Given the description of an element on the screen output the (x, y) to click on. 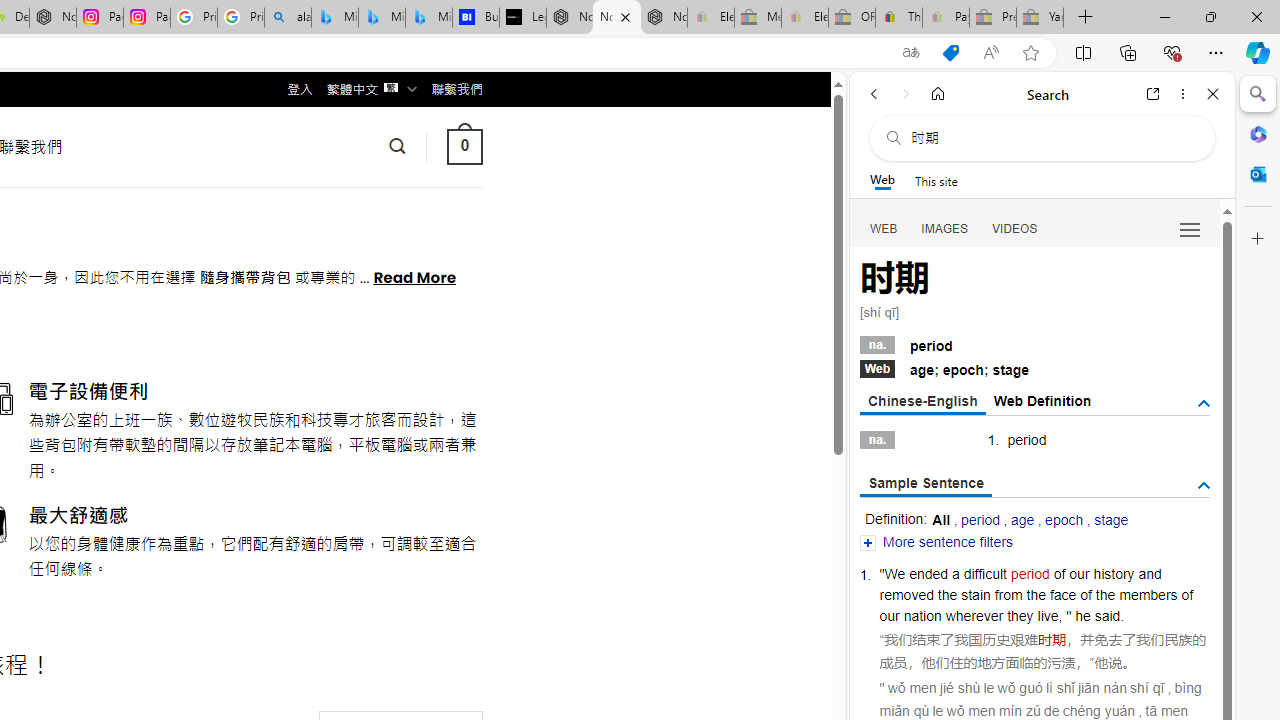
Search Filter, IMAGES (944, 228)
Yard, Garden & Outdoor Living - Sleeping (1040, 17)
Open link in new tab (1153, 93)
history (1114, 573)
Microsoft Bing Travel - Flights from Hong Kong to Bangkok (335, 17)
" (1069, 615)
